Given the description of an element on the screen output the (x, y) to click on. 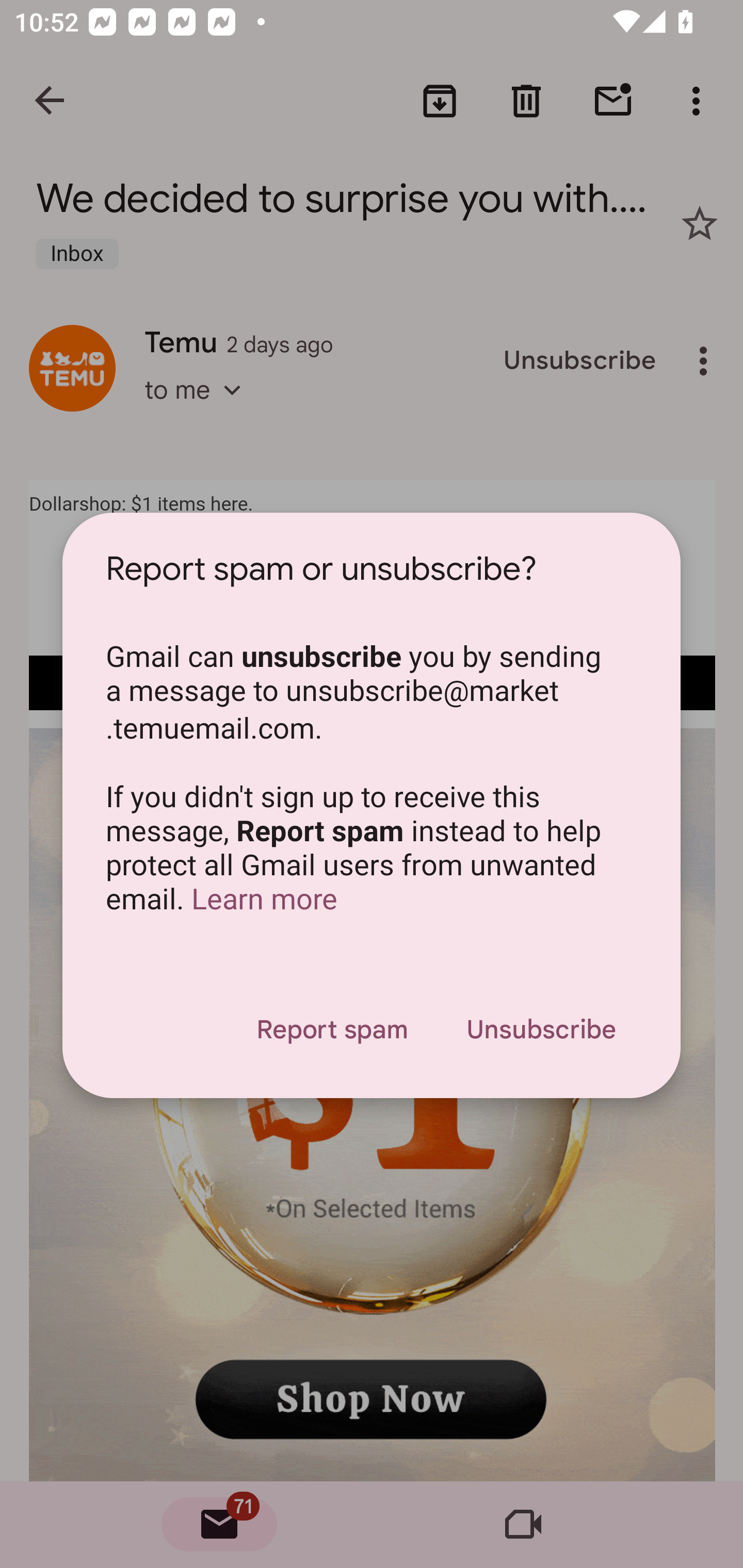
Report spam (331, 1029)
Unsubscribe (540, 1029)
